Given the description of an element on the screen output the (x, y) to click on. 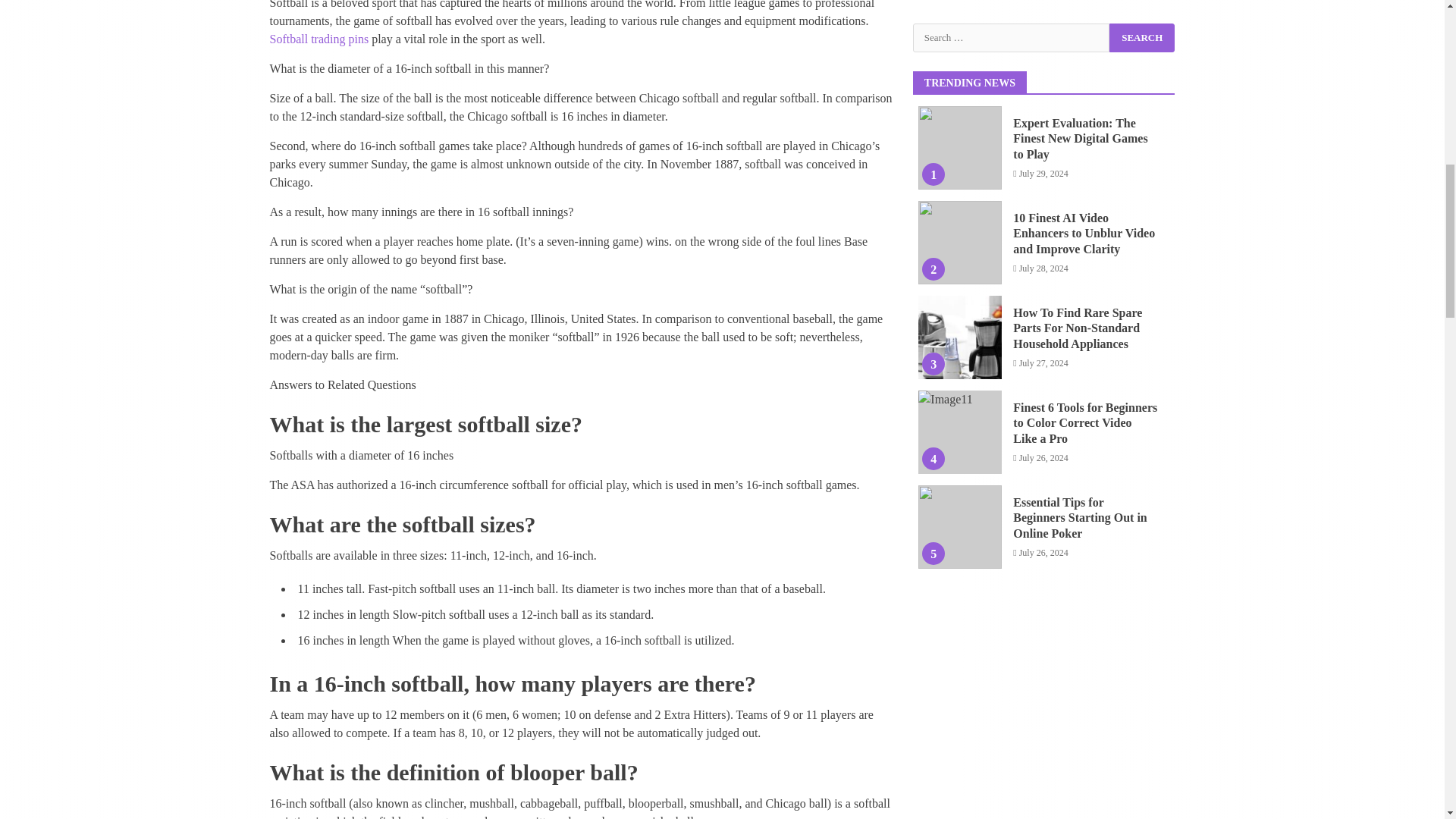
Softball trading pins (319, 38)
